Given the description of an element on the screen output the (x, y) to click on. 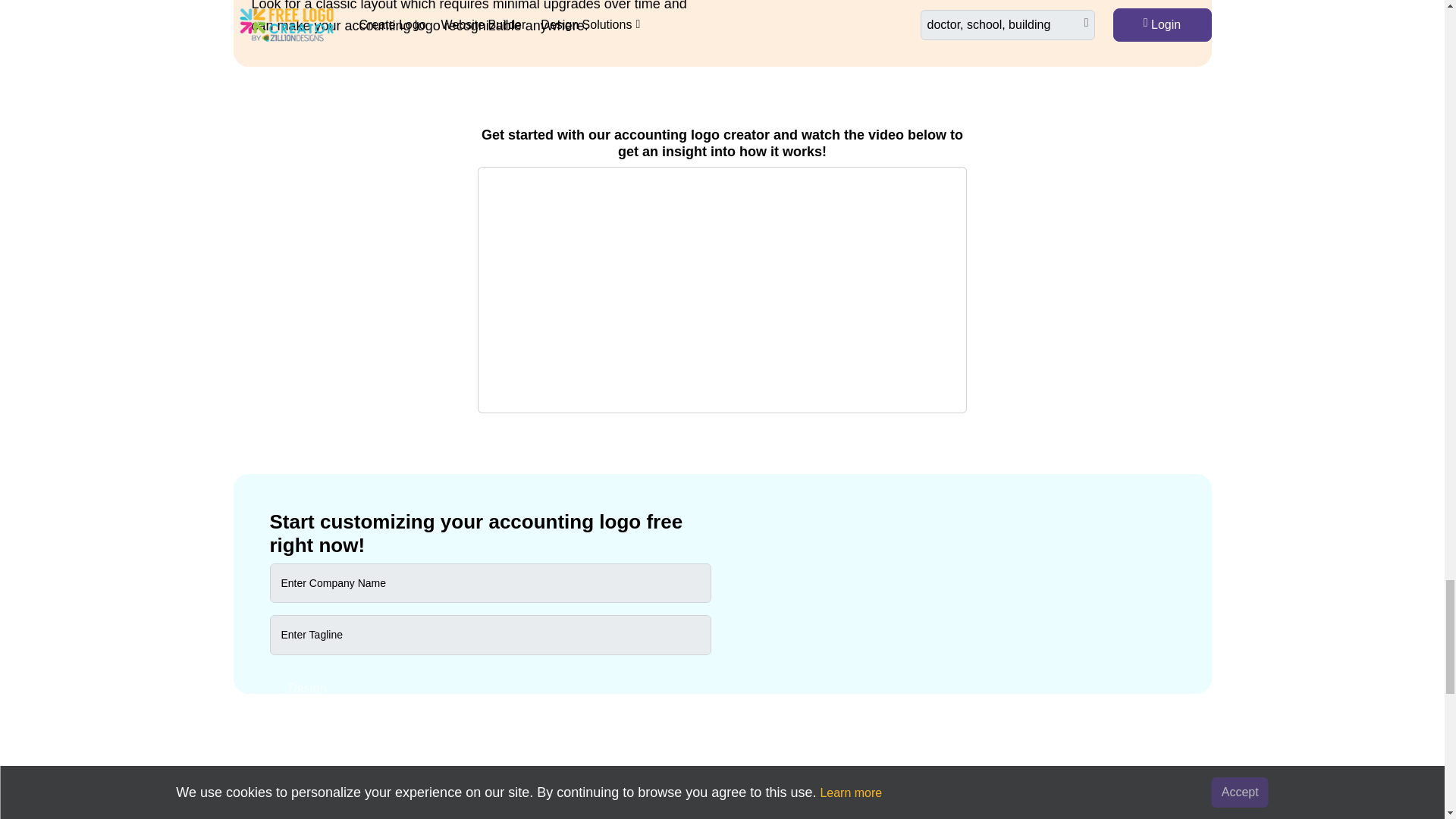
YouTube video player (721, 288)
Design (307, 688)
